Given the description of an element on the screen output the (x, y) to click on. 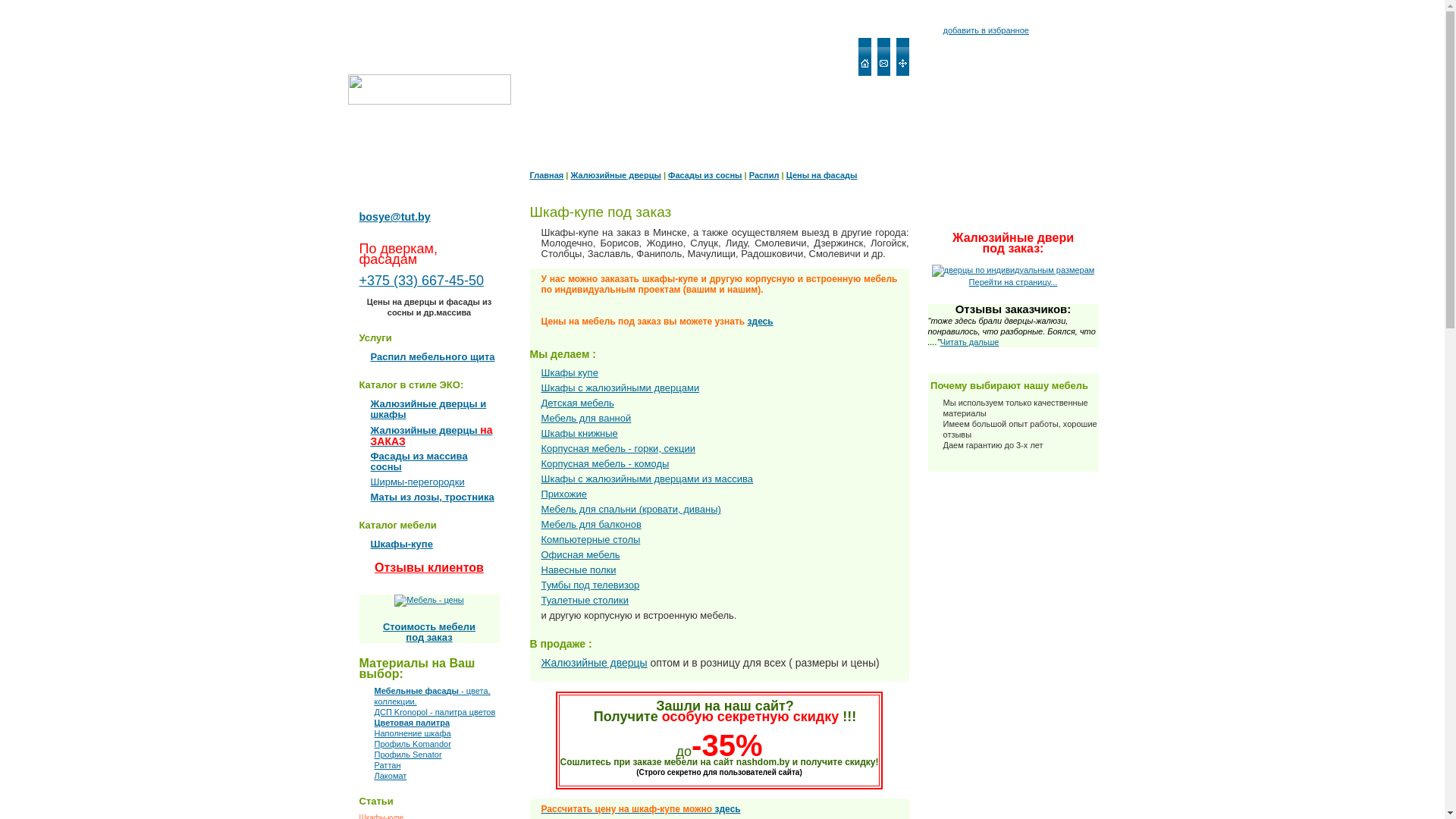
+375 (33) 667-45-50 Element type: text (421, 280)
bosye@tut.by Element type: text (394, 216)
